Given the description of an element on the screen output the (x, y) to click on. 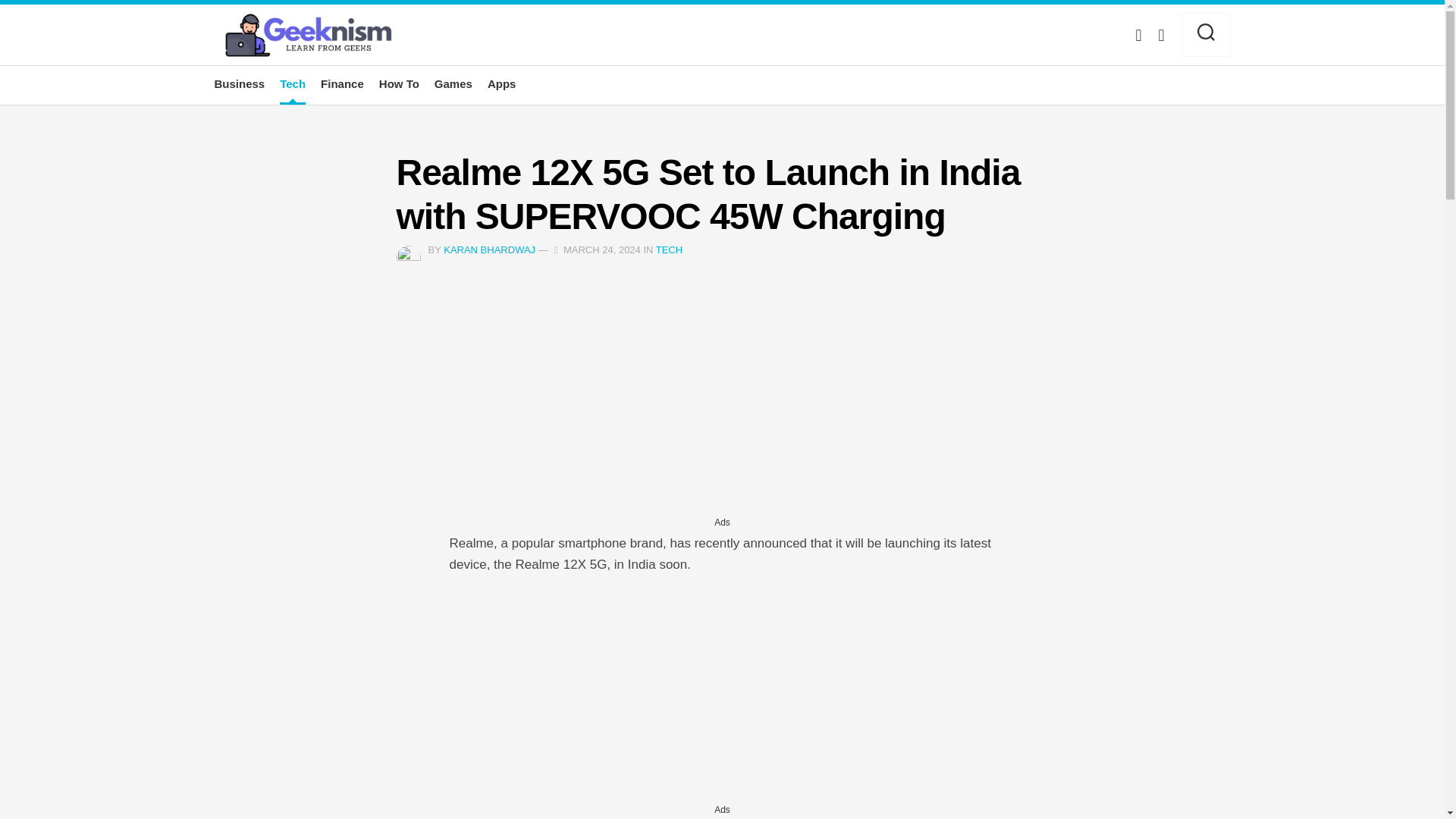
Finance (342, 83)
Facebook (1161, 35)
Advertisement (721, 406)
How To (398, 83)
Games (452, 83)
Twitter (1138, 35)
Posts by Karan Bhardwaj (489, 249)
KARAN BHARDWAJ (489, 249)
Business (239, 83)
Advertisement (721, 694)
